Given the description of an element on the screen output the (x, y) to click on. 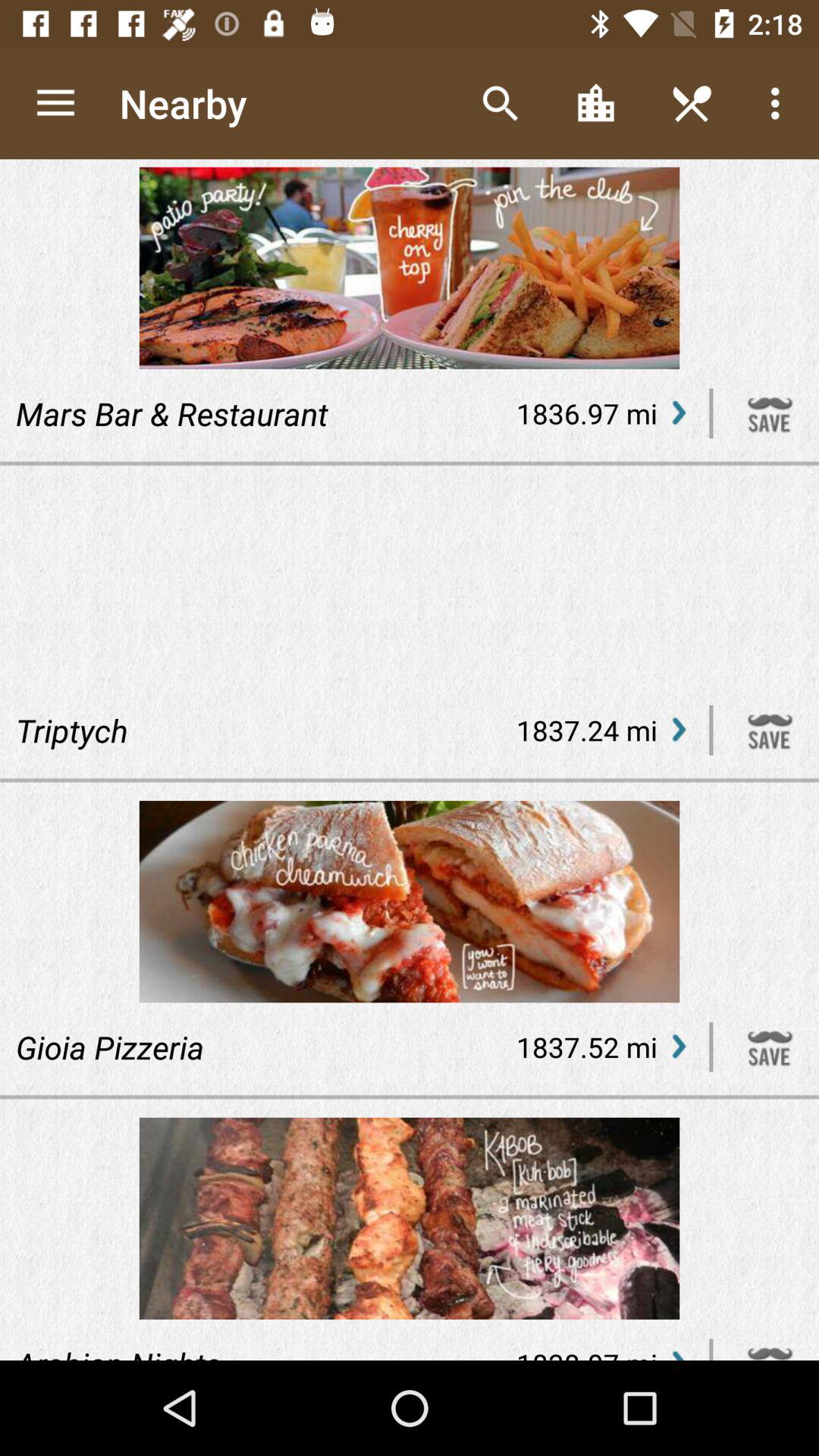
turn on the icon to the right of nearby app (500, 103)
